Given the description of an element on the screen output the (x, y) to click on. 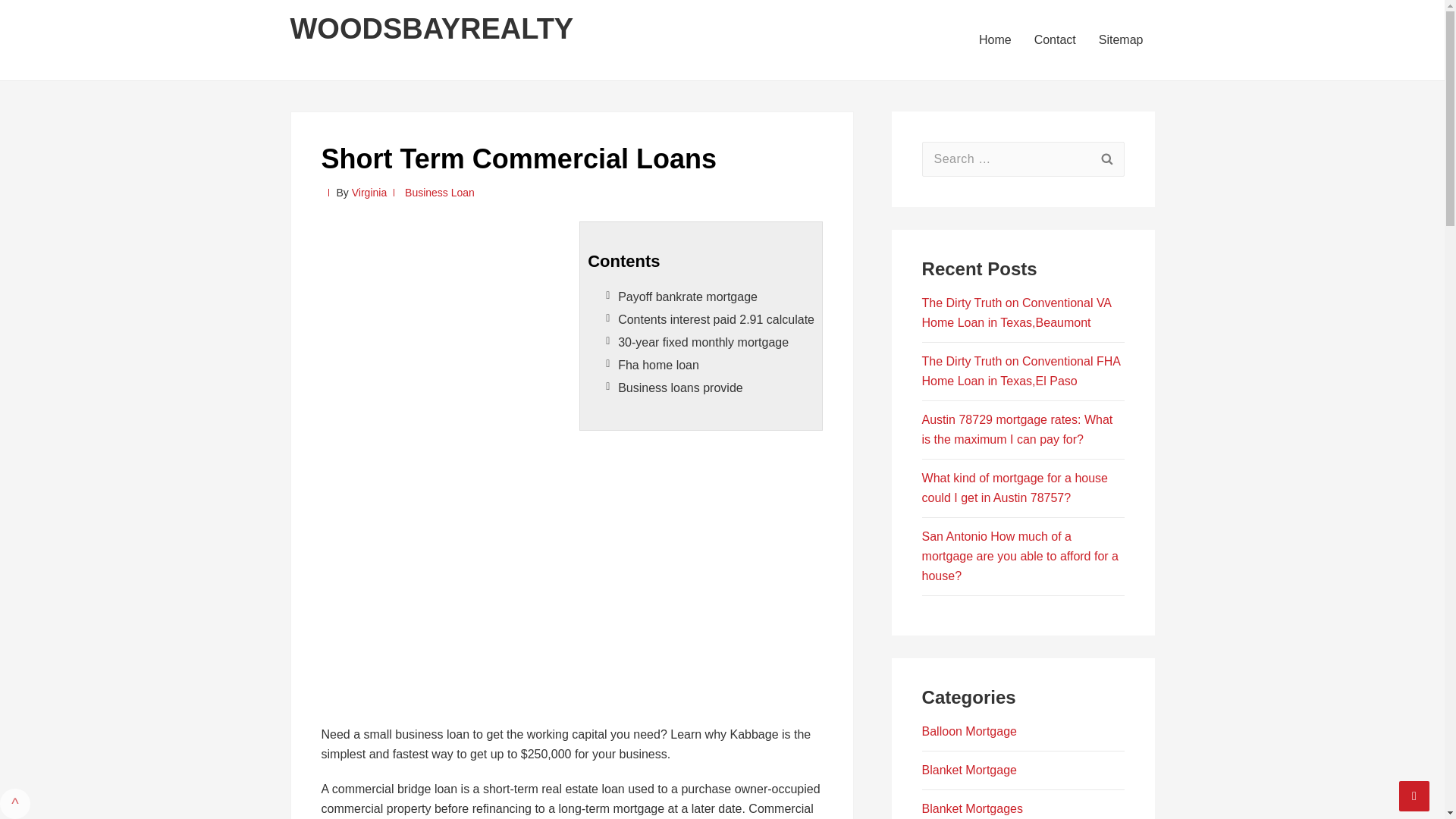
Balloon Mortgage (968, 730)
Sitemap (1120, 39)
Contact (1055, 39)
Search (1106, 158)
Payoff bankrate mortgage (687, 296)
Contents interest paid 2.91 calculate (715, 318)
Home (995, 39)
